Given the description of an element on the screen output the (x, y) to click on. 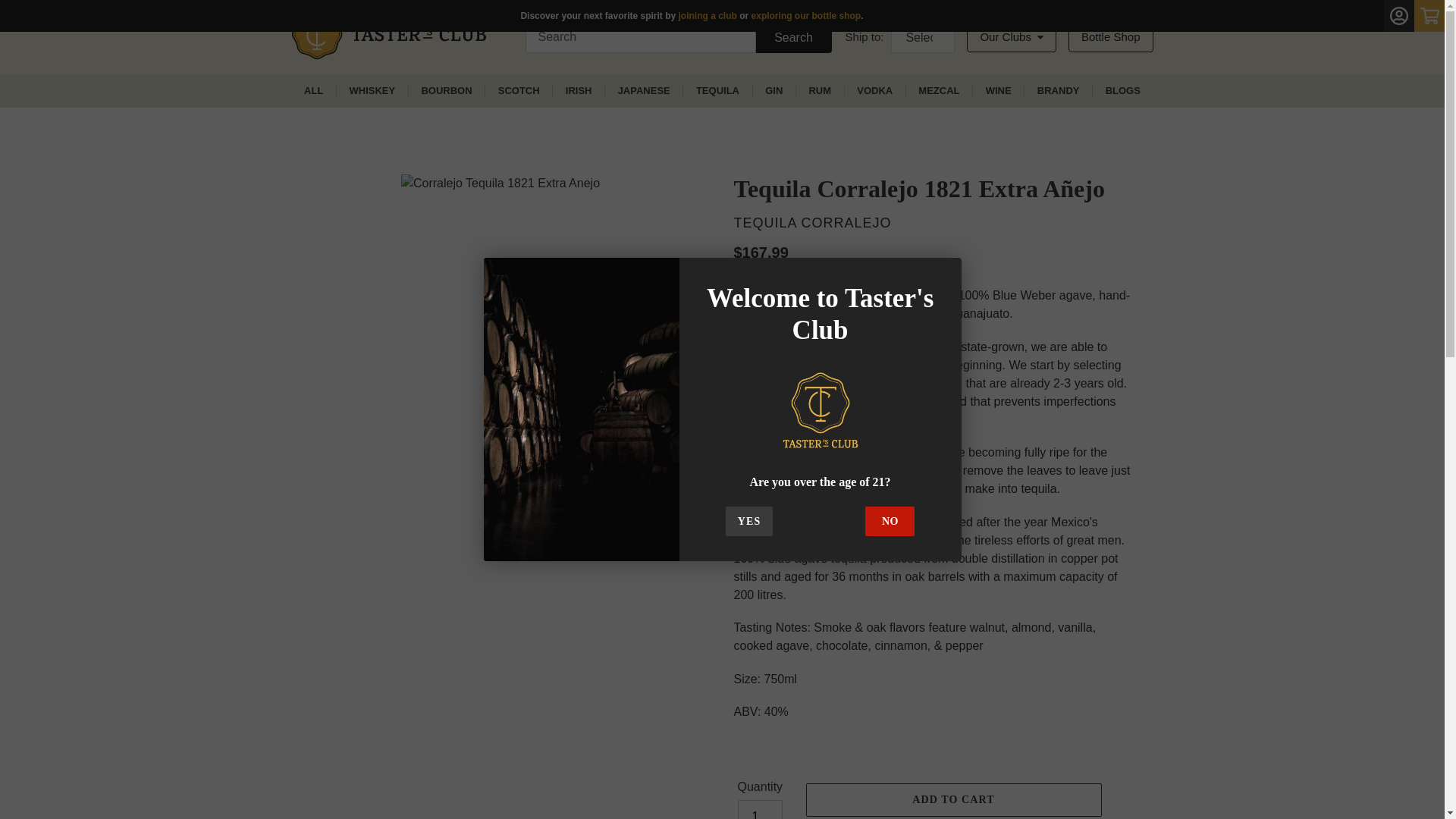
joining a club (707, 15)
Bottle Shop (1110, 37)
Search (793, 37)
1 (759, 809)
exploring our bottle shop (806, 15)
Search (793, 37)
Search (793, 37)
